Given the description of an element on the screen output the (x, y) to click on. 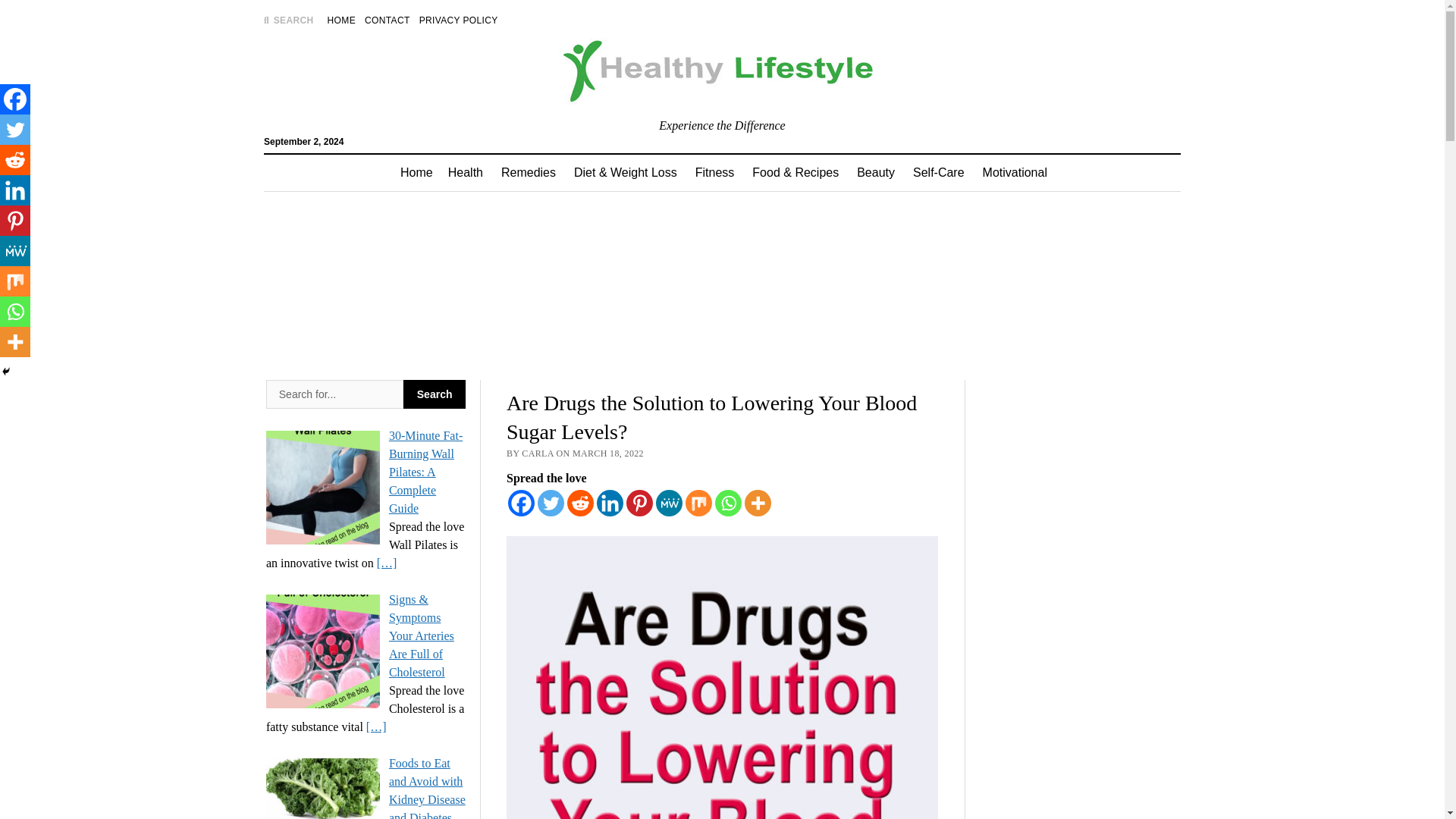
Remedies (528, 172)
Facebook (521, 502)
MeWe (669, 502)
Search (945, 129)
Reddit (580, 502)
PRIVACY POLICY (458, 20)
Pinterest (639, 502)
HOME (341, 20)
SEARCH (288, 20)
